Given the description of an element on the screen output the (x, y) to click on. 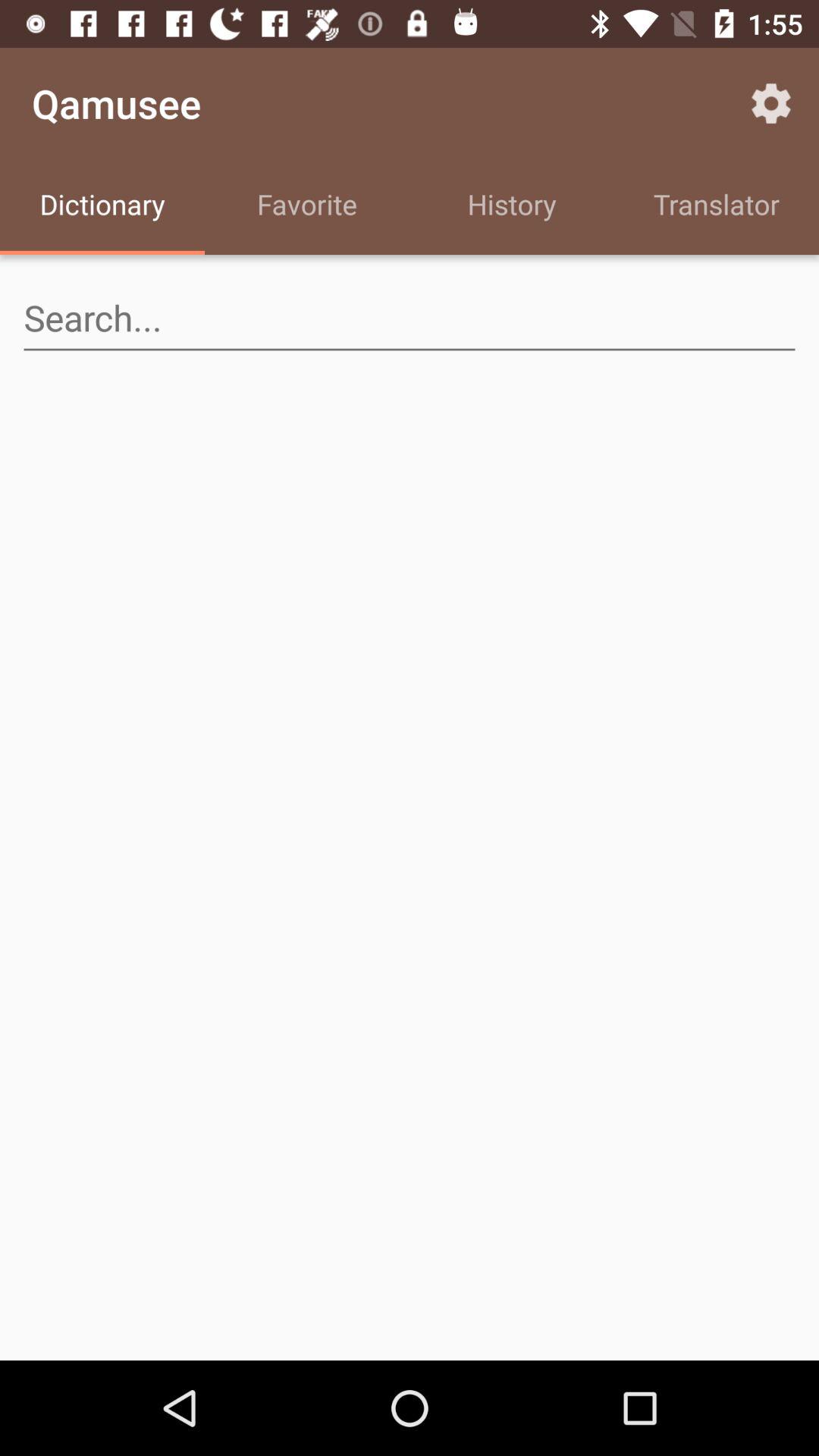
click the item to the right of history (771, 103)
